Given the description of an element on the screen output the (x, y) to click on. 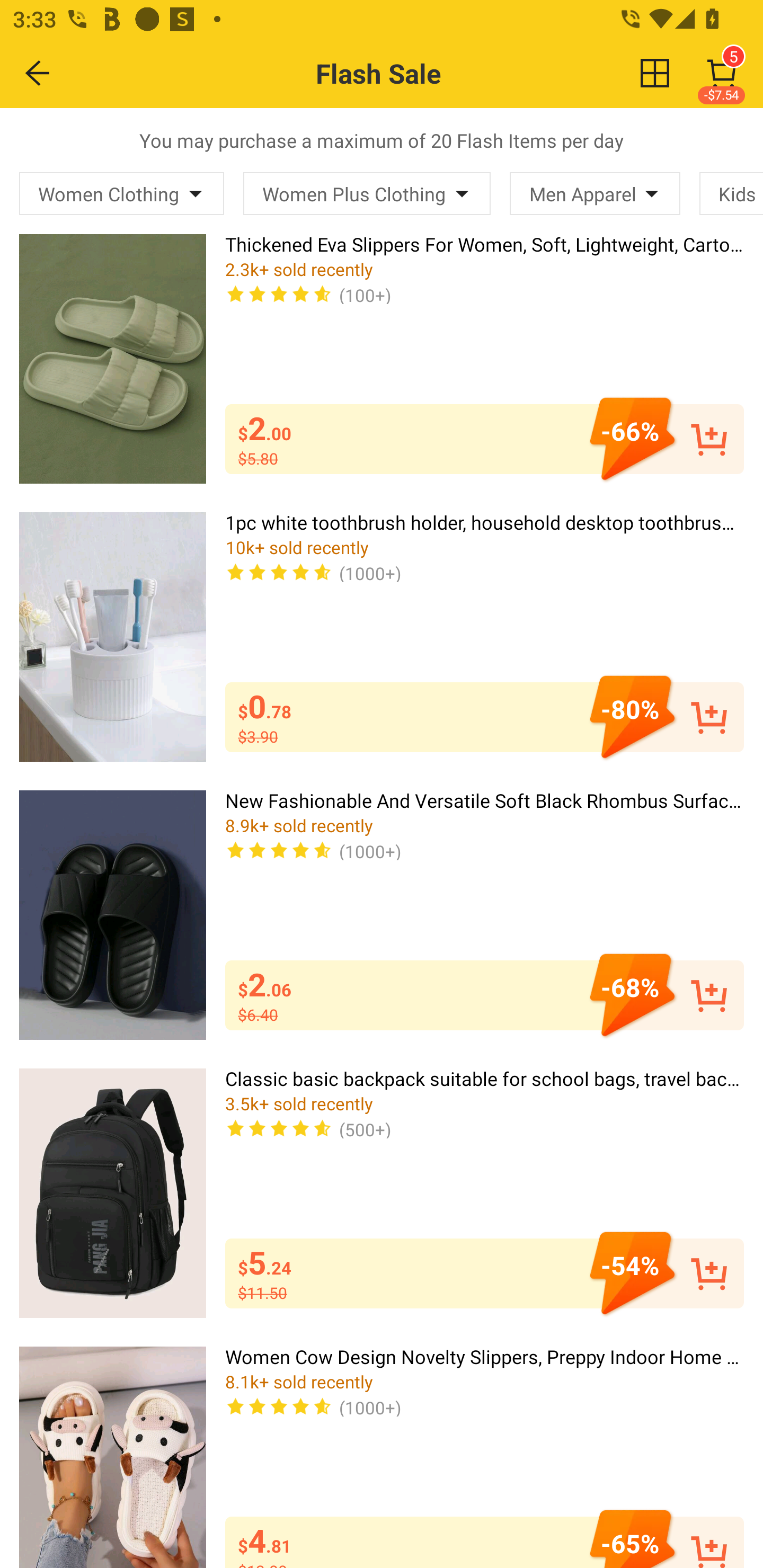
Flash Sale change view 5 -$7.54 (419, 72)
5 -$7.54 (721, 72)
change view (654, 72)
BACK (38, 72)
Women Clothing (121, 193)
Women Plus Clothing (366, 193)
Men Apparel (594, 193)
